Given the description of an element on the screen output the (x, y) to click on. 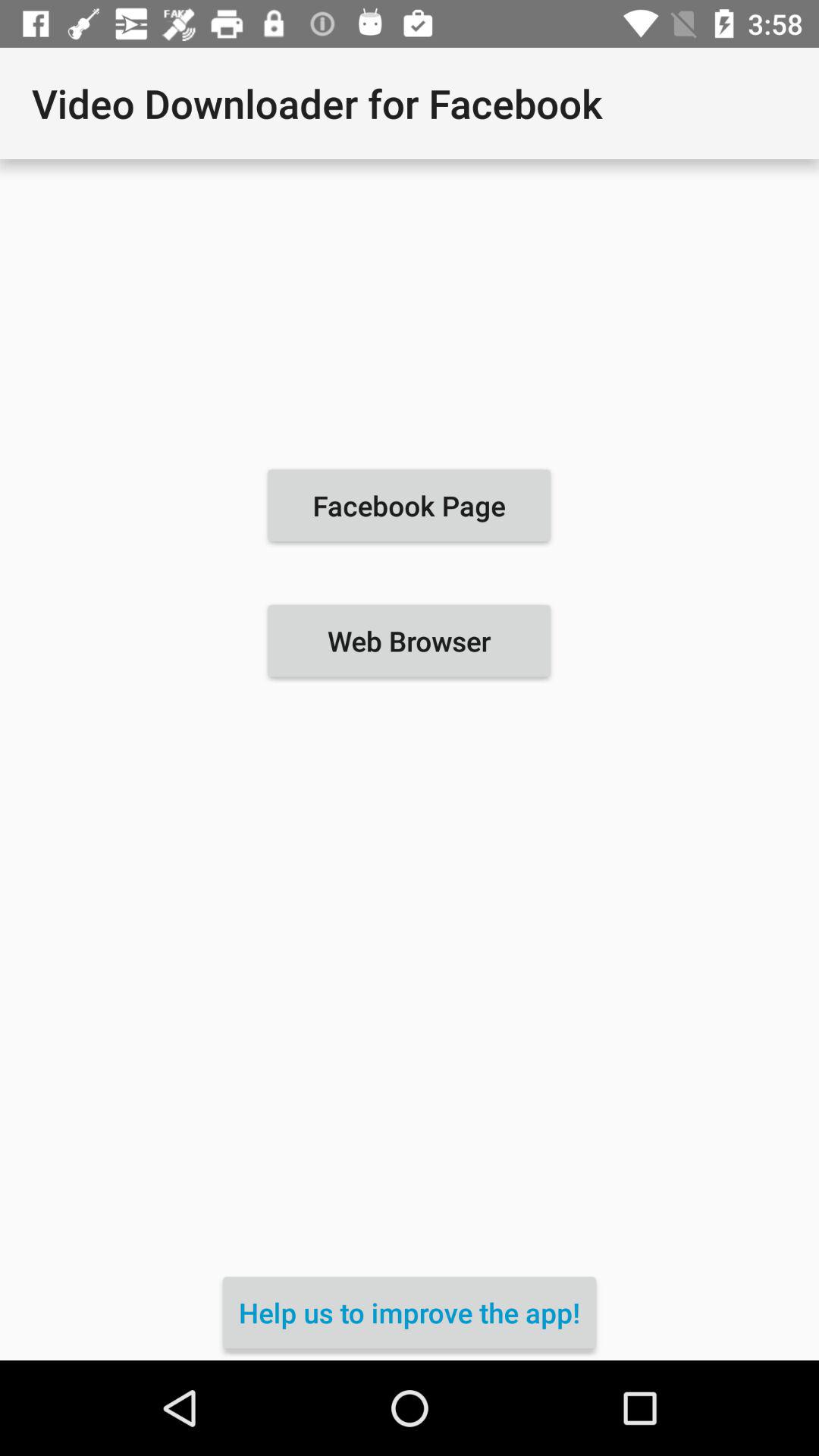
swipe until help us to (409, 1312)
